Given the description of an element on the screen output the (x, y) to click on. 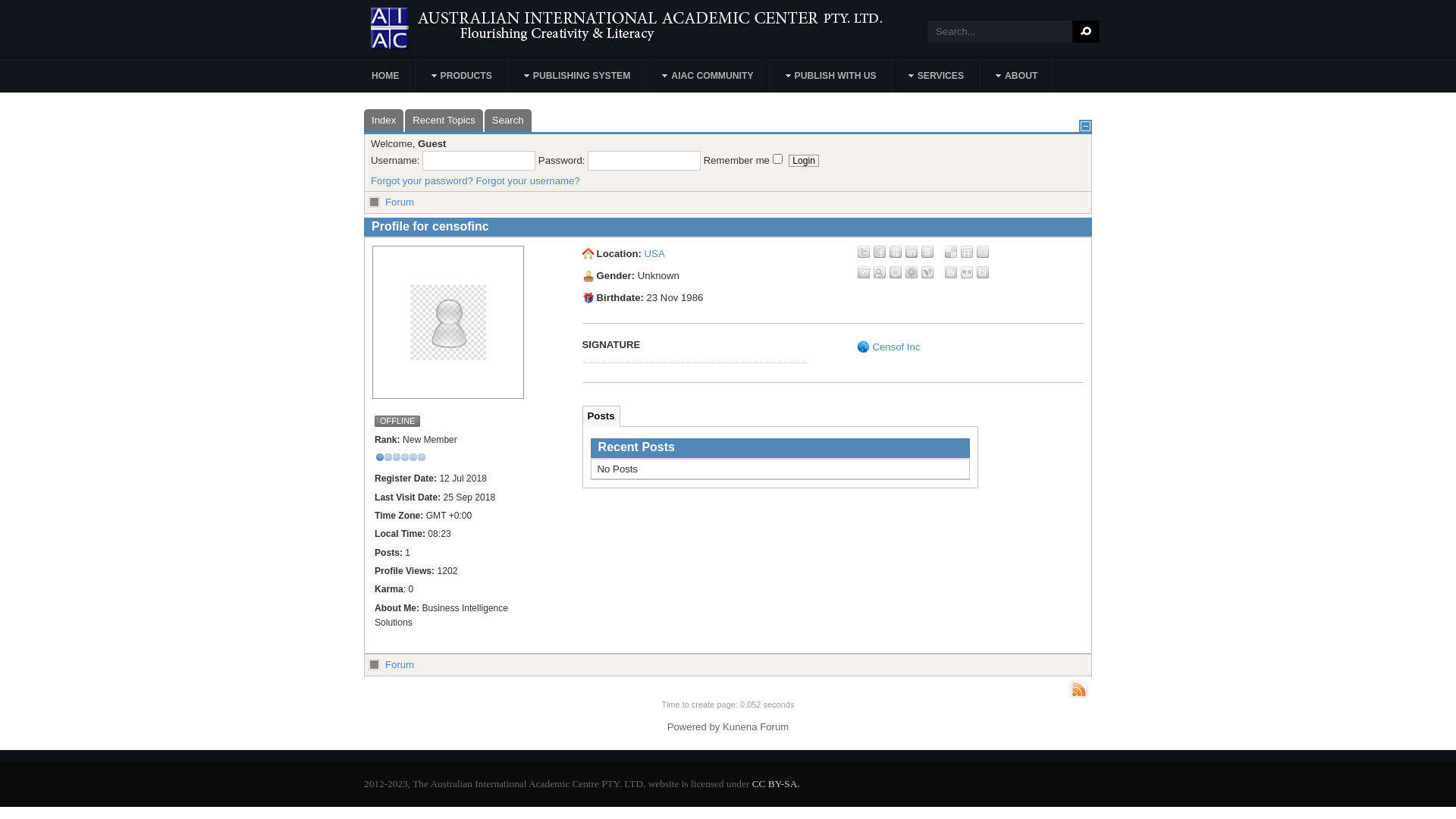
AIAC PTY. LTD. Element type: hover (674, 28)
Forum Element type: text (399, 201)
USA Element type: text (654, 253)
Search Element type: text (1085, 31)
Powered by Element type: text (693, 726)
AIAC COMMUNITY Element type: text (707, 75)
PUBLISHING SYSTEM Element type: text (577, 75)
HOME Element type: text (385, 75)
get the latest posts directly to your desktop Element type: hover (1079, 689)
PRODUCTS Element type: text (462, 75)
Index Element type: text (383, 120)
SERVICES Element type: text (936, 75)
Kunena Forum Element type: text (755, 726)
Recent Topics Element type: text (443, 120)
PUBLISH WITH US Element type: text (831, 75)
Login Element type: text (803, 160)
Censof Inc Element type: text (895, 346)
CC BY-SA. Element type: text (776, 783)
Forum Element type: text (399, 664)
Forgot your username? Element type: text (528, 180)
Search Element type: text (507, 120)
ABOUT Element type: text (1016, 75)
Collapse Element type: hover (1085, 125)
Forgot your password? Element type: text (421, 180)
